Given the description of an element on the screen output the (x, y) to click on. 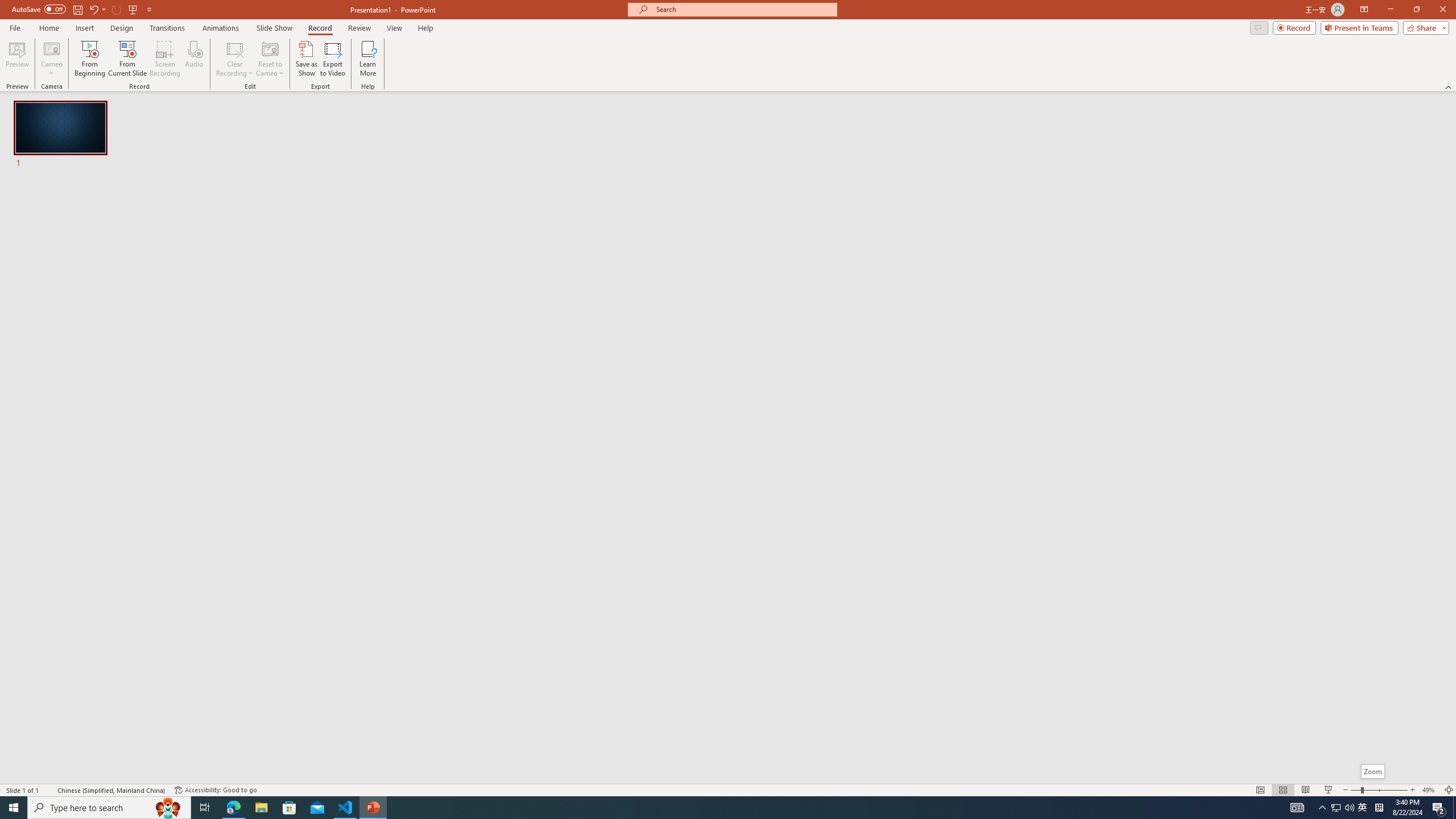
Spell Check  (49, 790)
